Given the description of an element on the screen output the (x, y) to click on. 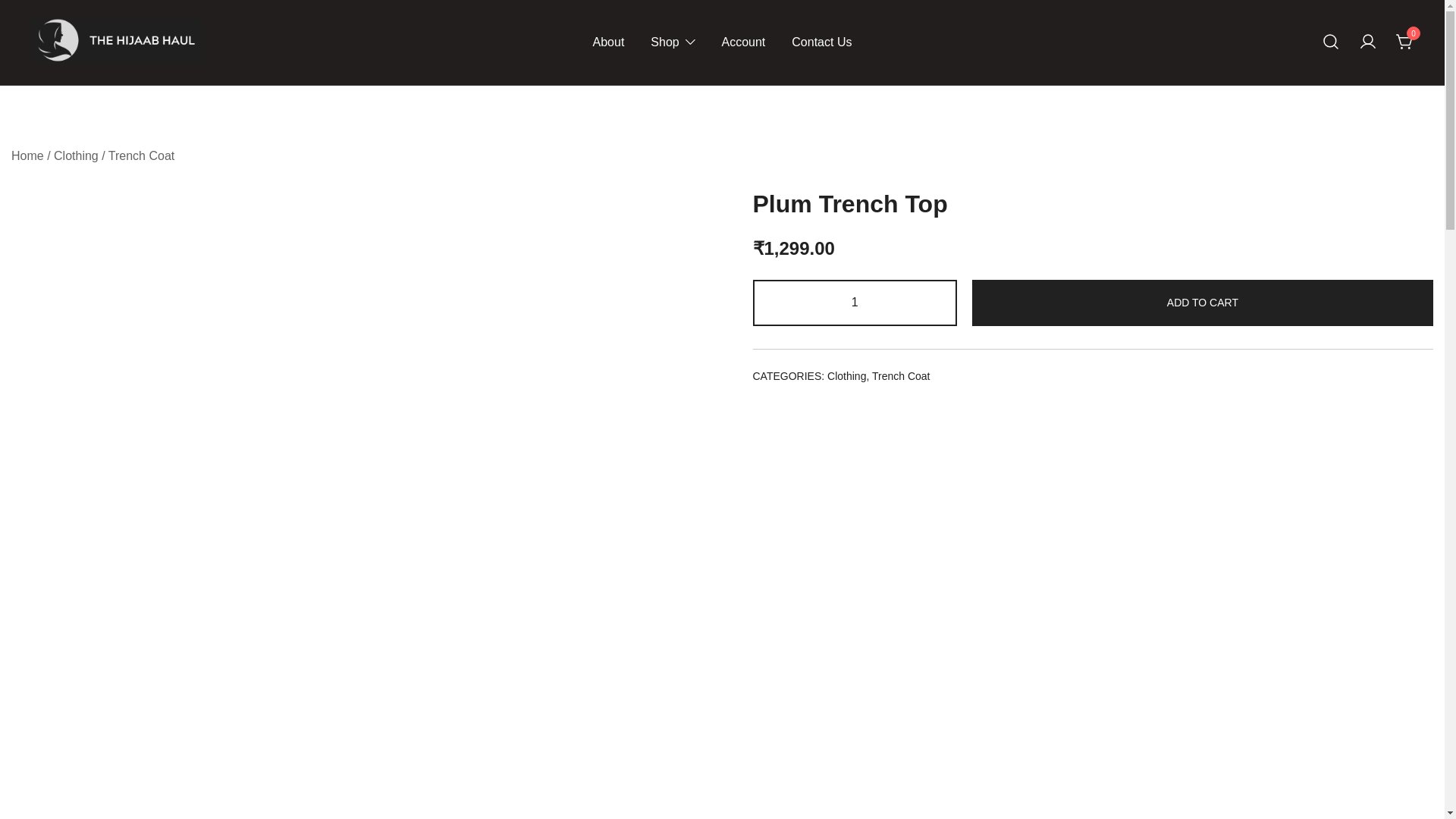
0 (1404, 41)
Account (743, 42)
Contact Us (821, 42)
View your shopping cart (1404, 41)
1 (854, 302)
About (608, 42)
0 (1404, 41)
